Given the description of an element on the screen output the (x, y) to click on. 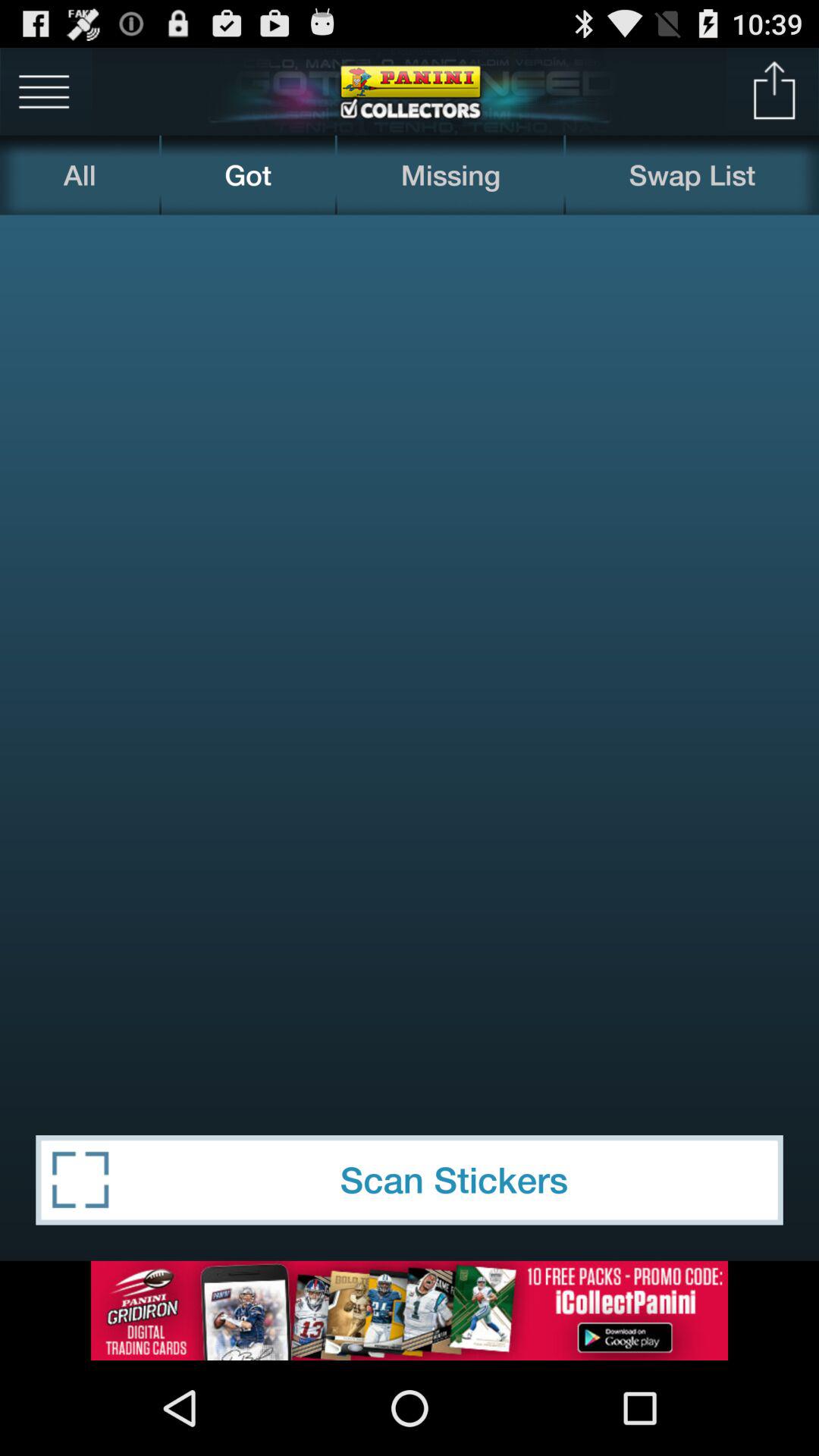
open the icon above all item (43, 91)
